Given the description of an element on the screen output the (x, y) to click on. 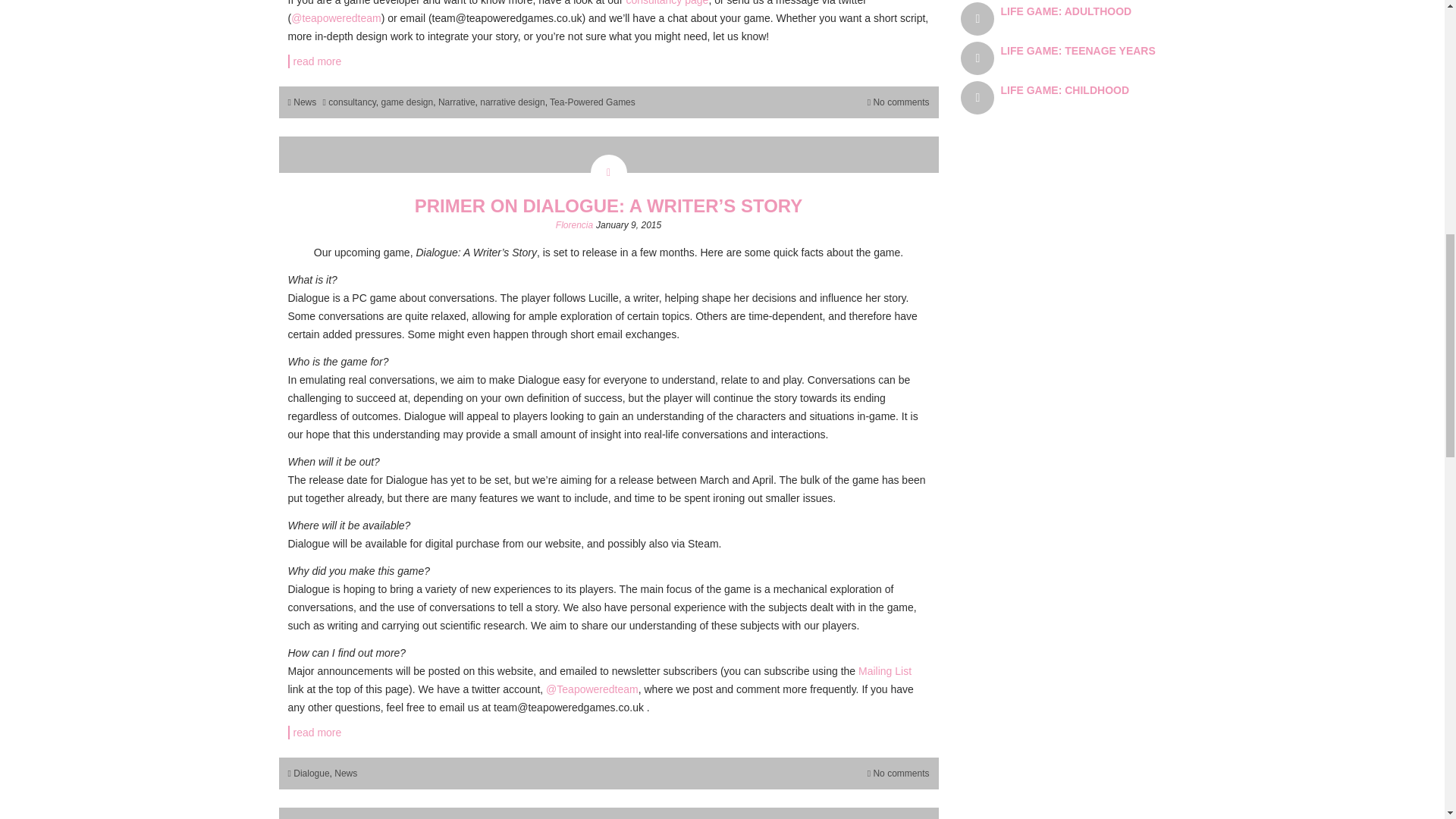
Florencia (574, 225)
Narrative (457, 102)
Tea-Powered Games (592, 102)
Life Game: Childhood (1064, 90)
consultancy (352, 102)
No comments (900, 102)
read more (609, 60)
No comments (900, 773)
News (345, 773)
read more (609, 732)
